Given the description of an element on the screen output the (x, y) to click on. 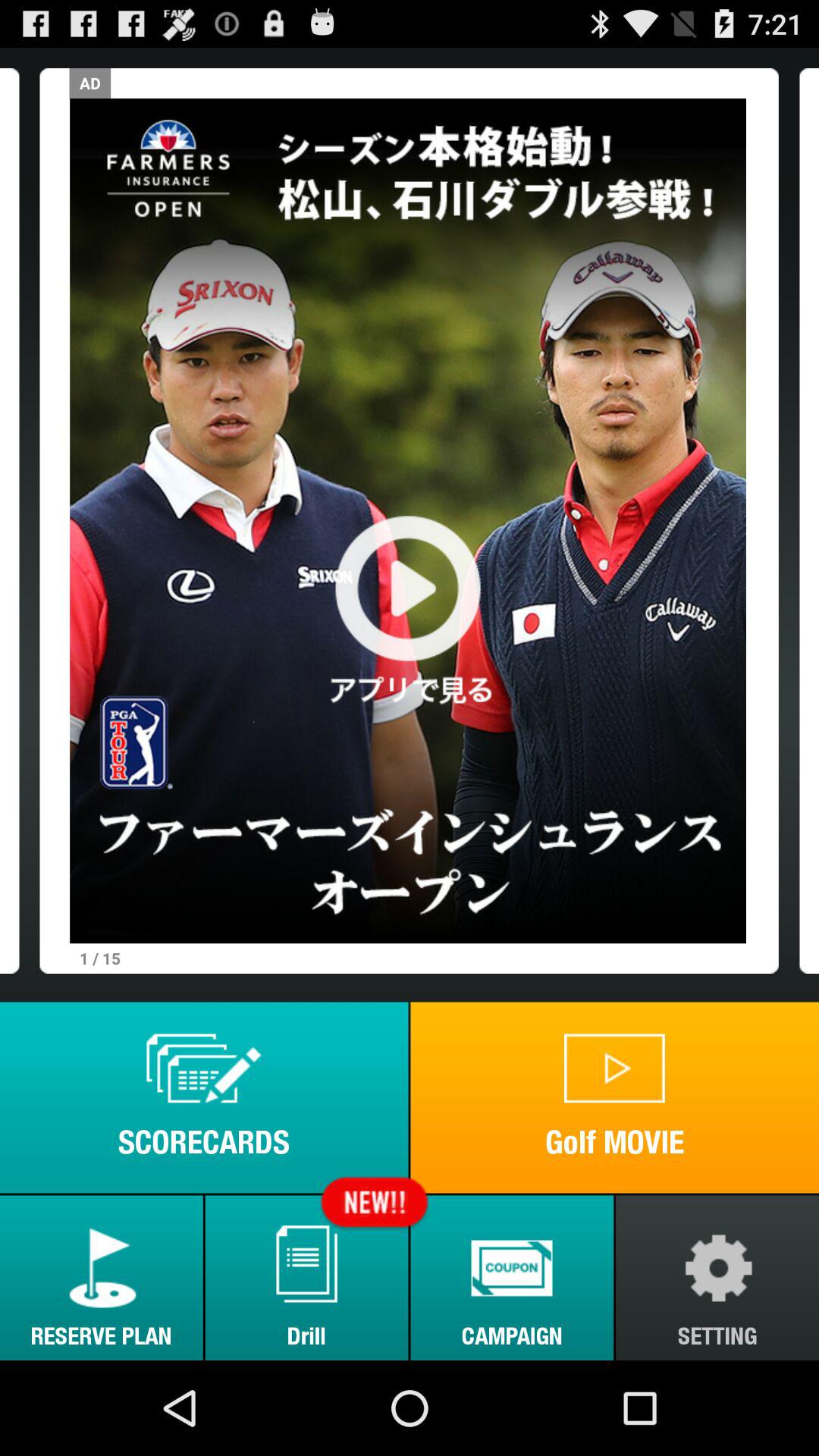
play video (407, 520)
